Given the description of an element on the screen output the (x, y) to click on. 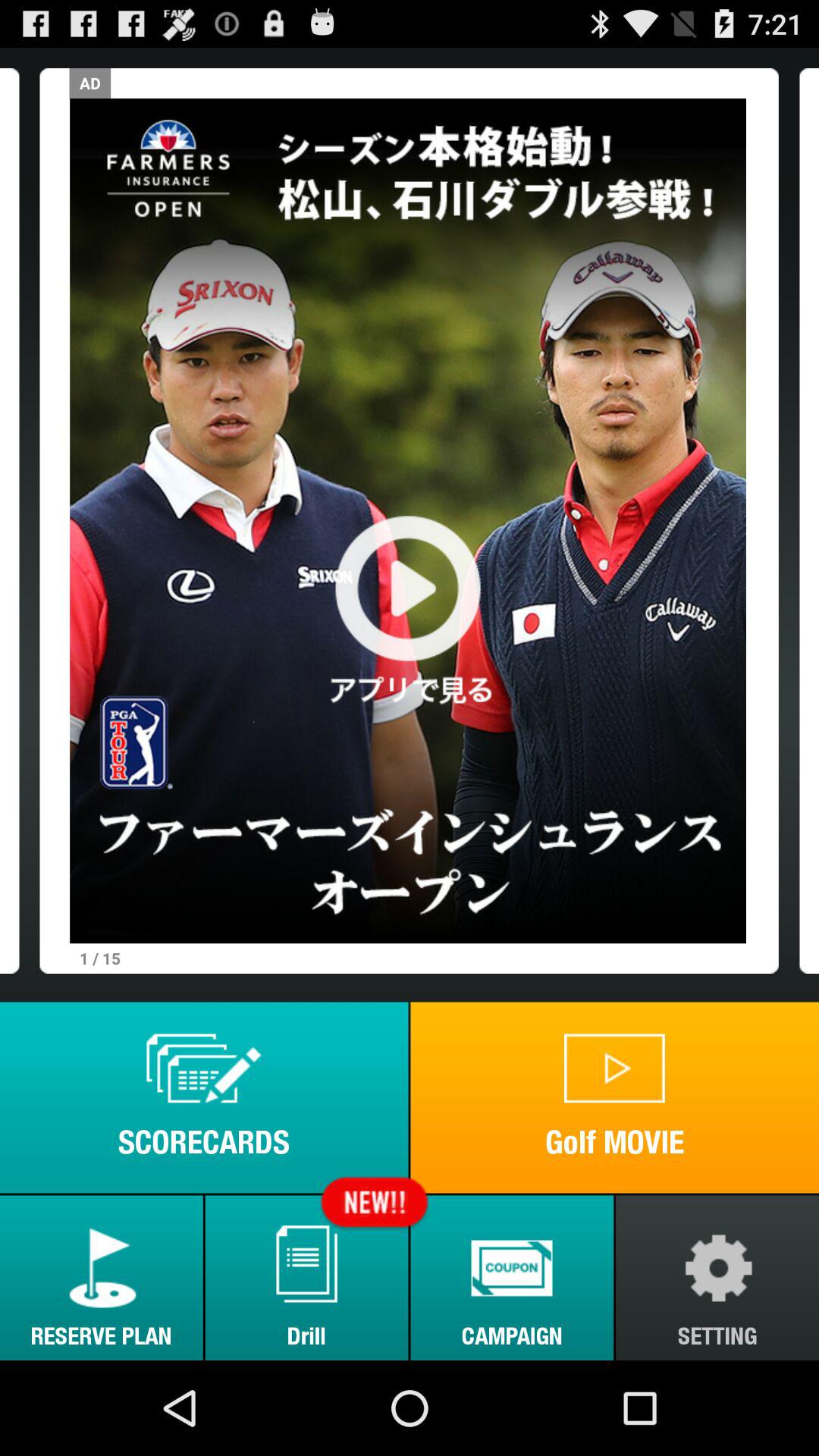
play video (407, 520)
